Given the description of an element on the screen output the (x, y) to click on. 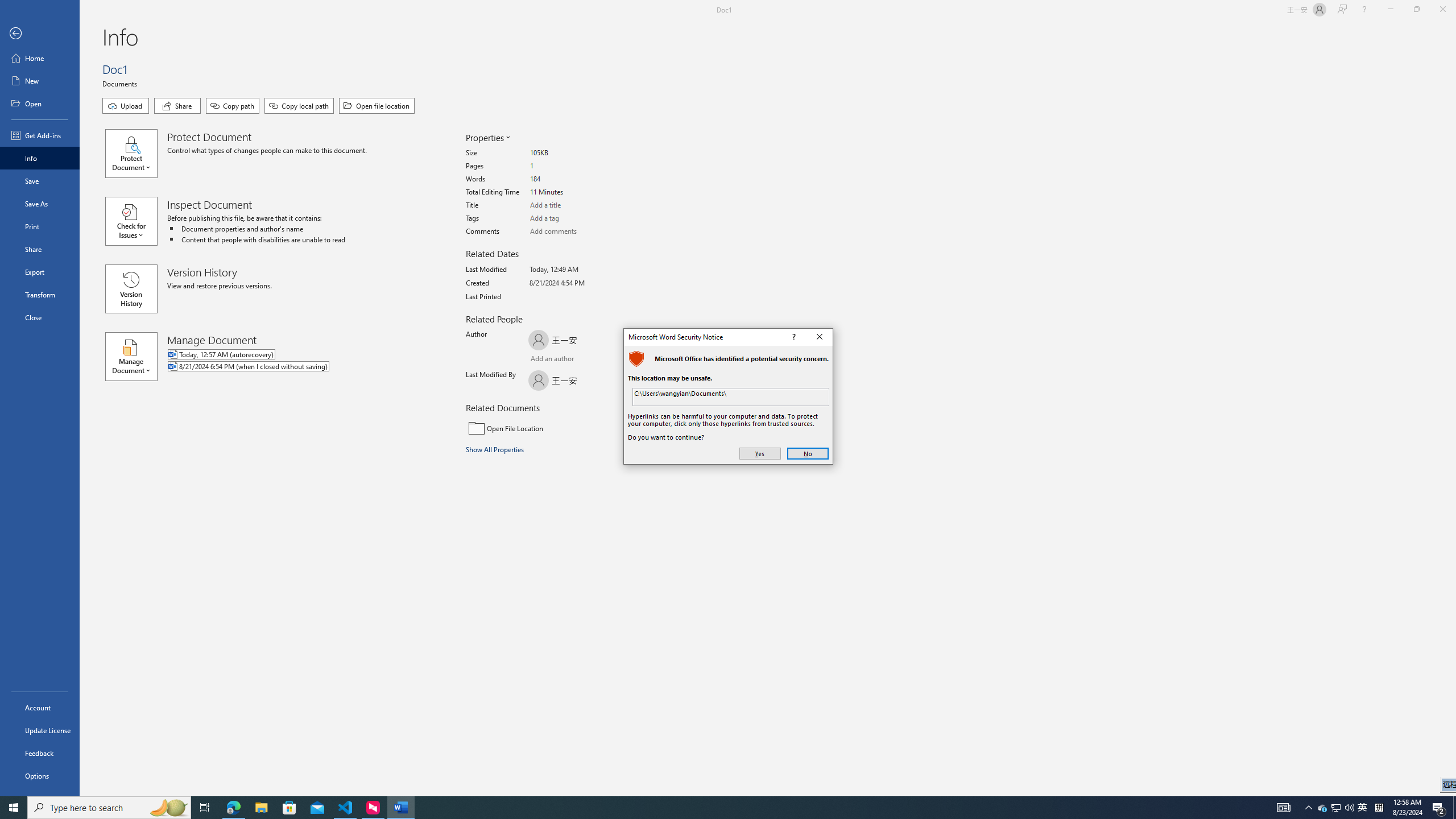
Help (1364, 9)
Link (730, 397)
Manage Document (135, 356)
Task View (204, 807)
Update License (40, 730)
Restore Down (1416, 9)
Share (177, 105)
Save As (40, 203)
Add an author (540, 359)
File Explorer (261, 807)
Protect Document (135, 153)
Class: NetUIImage (638, 358)
Share (40, 248)
Action Center, 2 new notifications (1439, 807)
Close (40, 317)
